Given the description of an element on the screen output the (x, y) to click on. 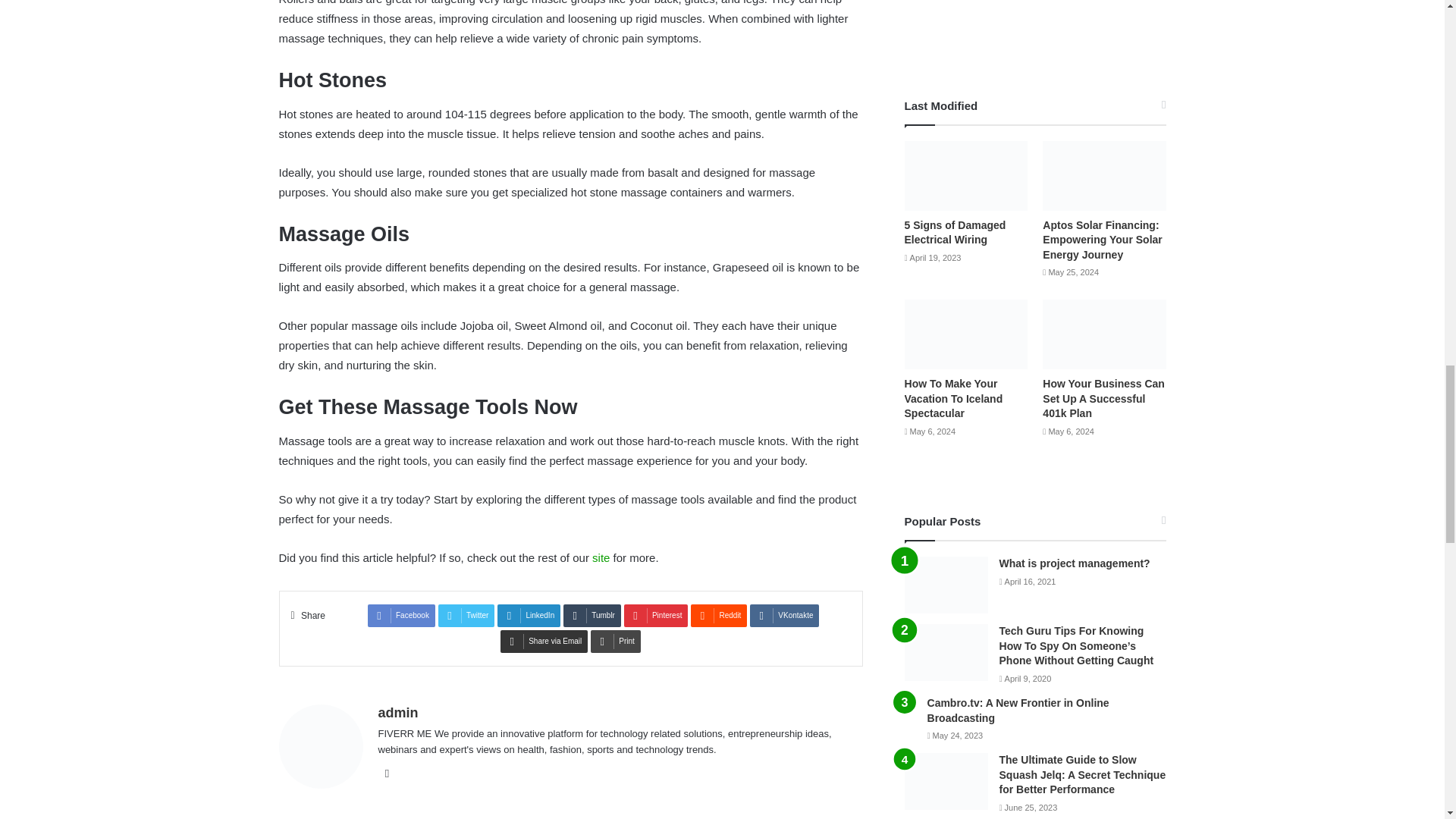
Twitter (466, 615)
Facebook (401, 615)
site (601, 557)
